Given the description of an element on the screen output the (x, y) to click on. 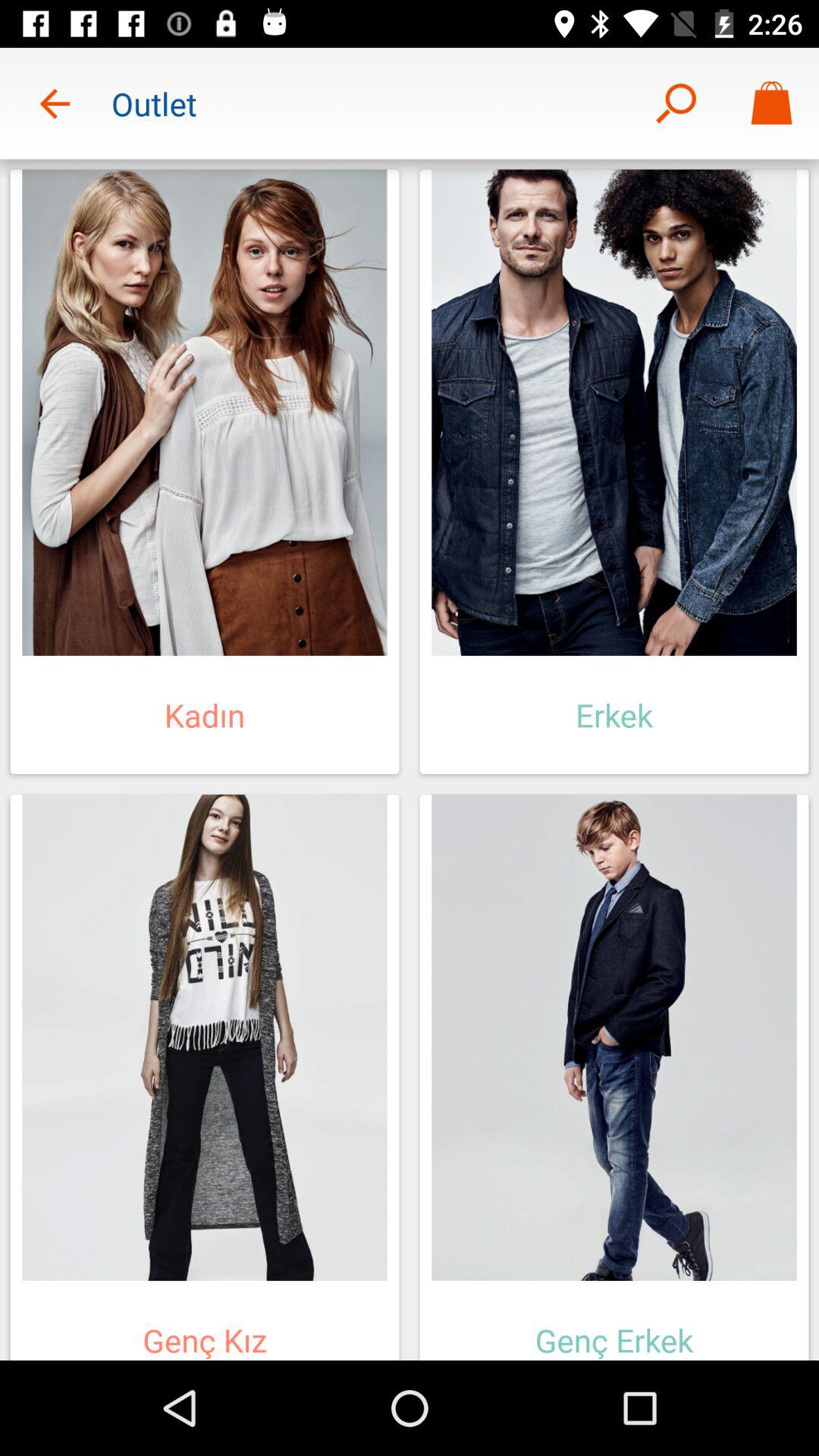
open item next to the outlet icon (675, 103)
